Given the description of an element on the screen output the (x, y) to click on. 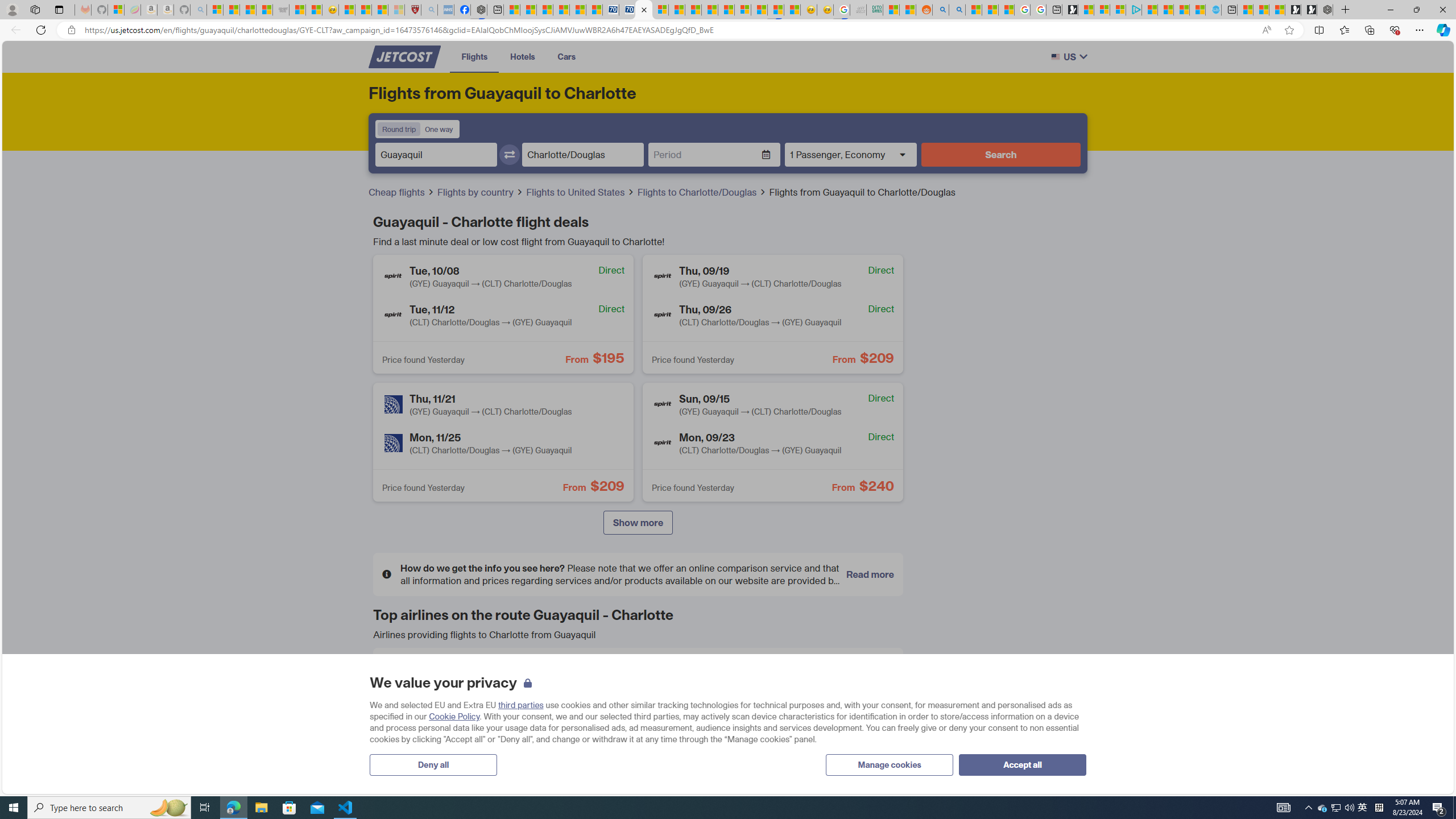
third parties (520, 705)
DELTA DELTA (465, 716)
American Airlines (400, 674)
Cheap flights (401, 191)
Utah sues federal government - Search (956, 9)
Copa Airlines Copa Airlines (809, 675)
